Given the description of an element on the screen output the (x, y) to click on. 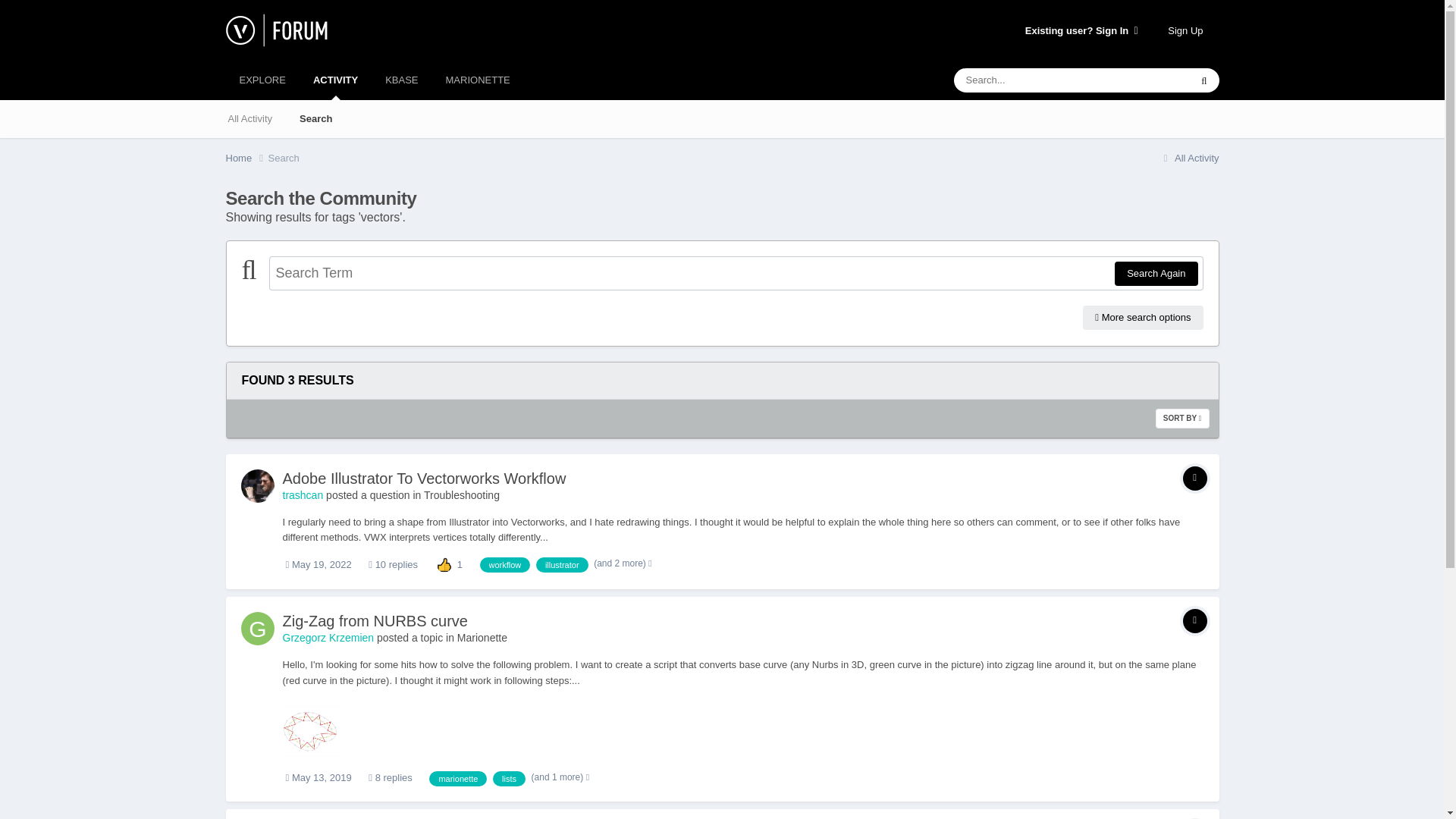
All Activity (249, 118)
Home (246, 158)
Go to trashcan's profile (258, 485)
Home (246, 158)
Existing user? Sign In   (1081, 30)
Go to trashcan's profile (302, 494)
Search (283, 157)
Topic (1194, 478)
Go to Grzegorz Krzemien's profile (258, 628)
Like (443, 563)
ACTIVITY (335, 79)
More search options (1142, 317)
EXPLORE (262, 79)
Sign Up (1184, 29)
Find other content tagged with 'illustrator' (561, 564)
